Given the description of an element on the screen output the (x, y) to click on. 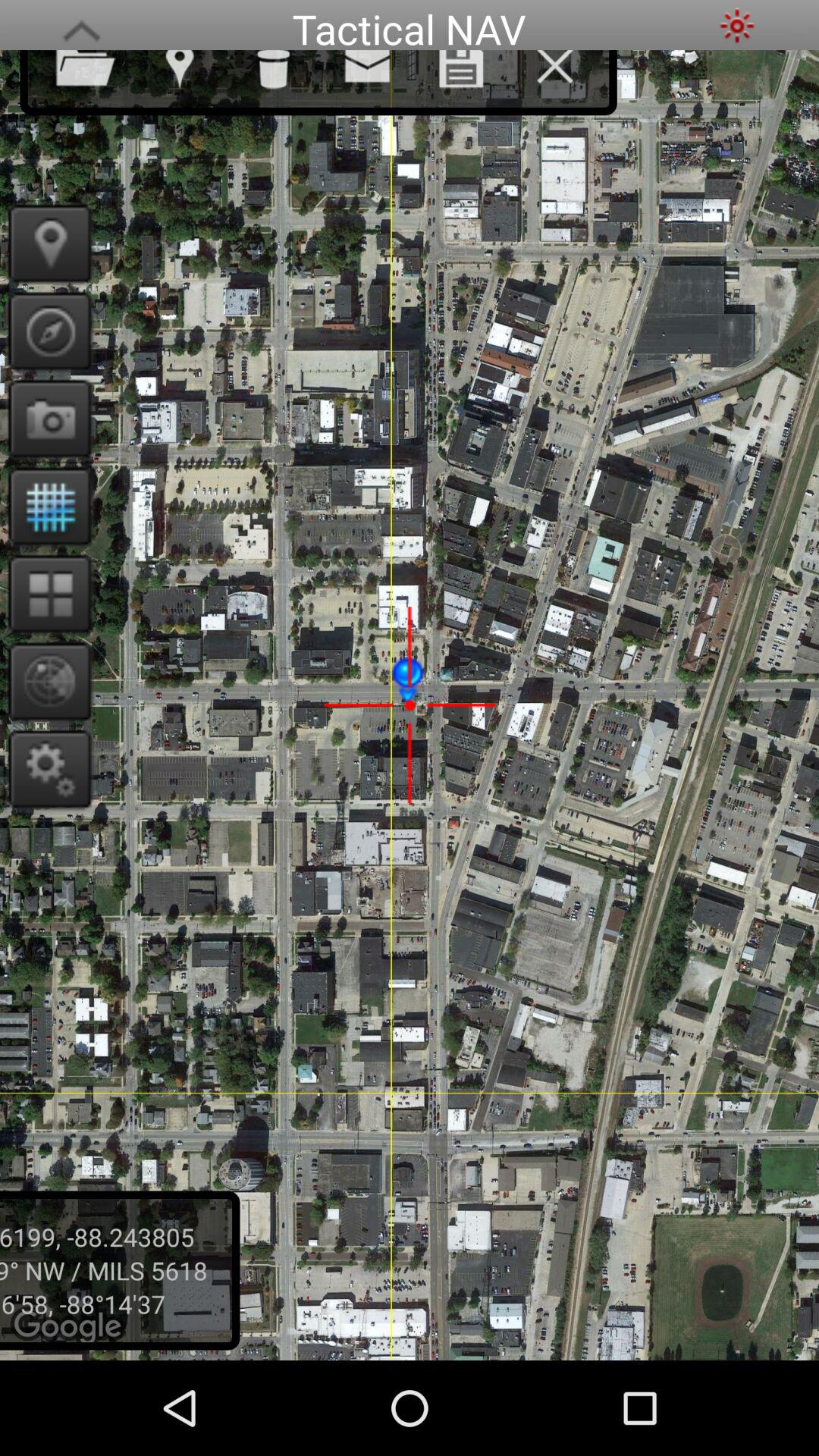
open icon at the top right corner (737, 25)
